Given the description of an element on the screen output the (x, y) to click on. 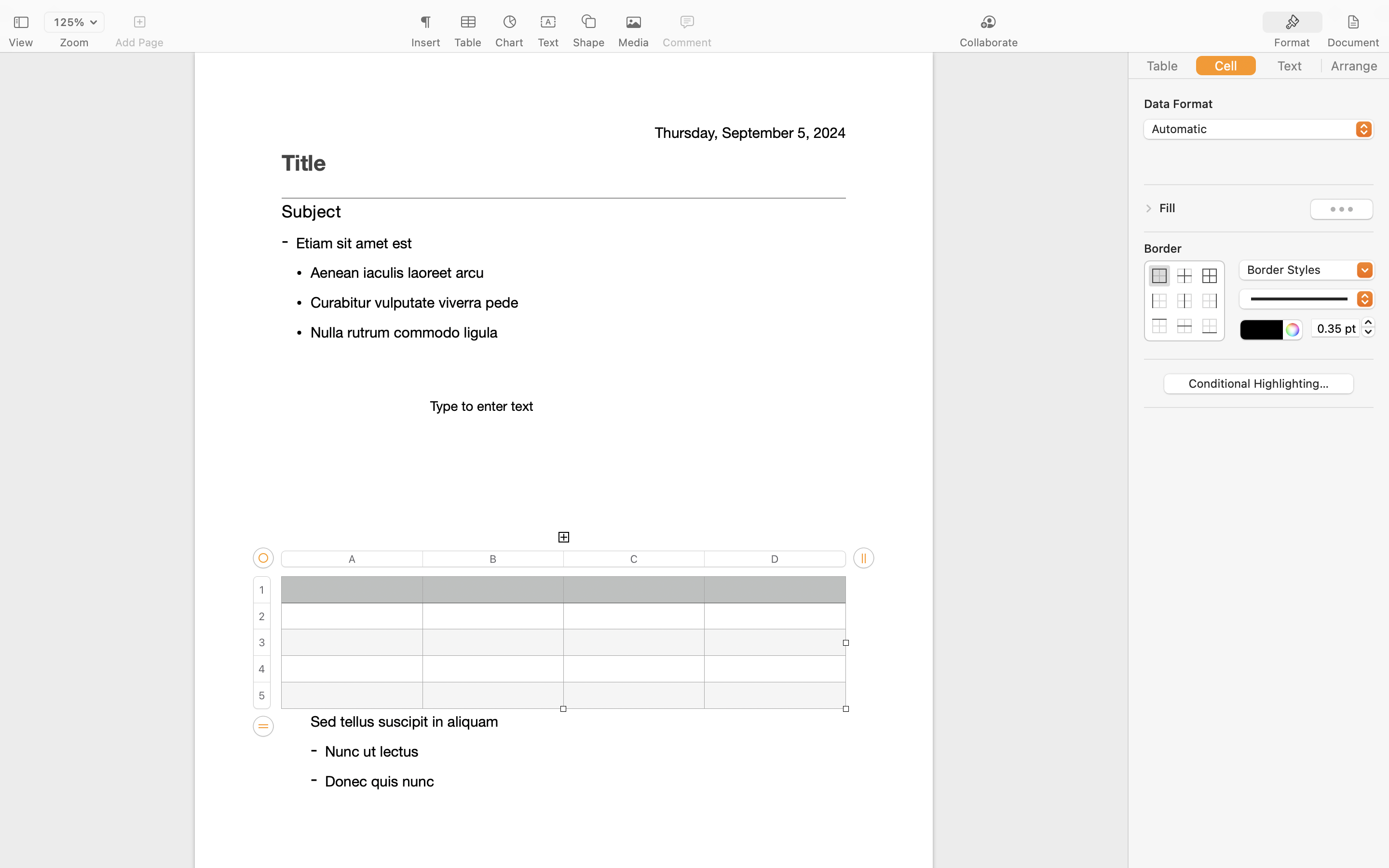
Media Element type: AXStaticText (633, 42)
0.35 pt Element type: AXTextField (1335, 327)
Learn More Element type: AXStaticText (562, 309)
